Given the description of an element on the screen output the (x, y) to click on. 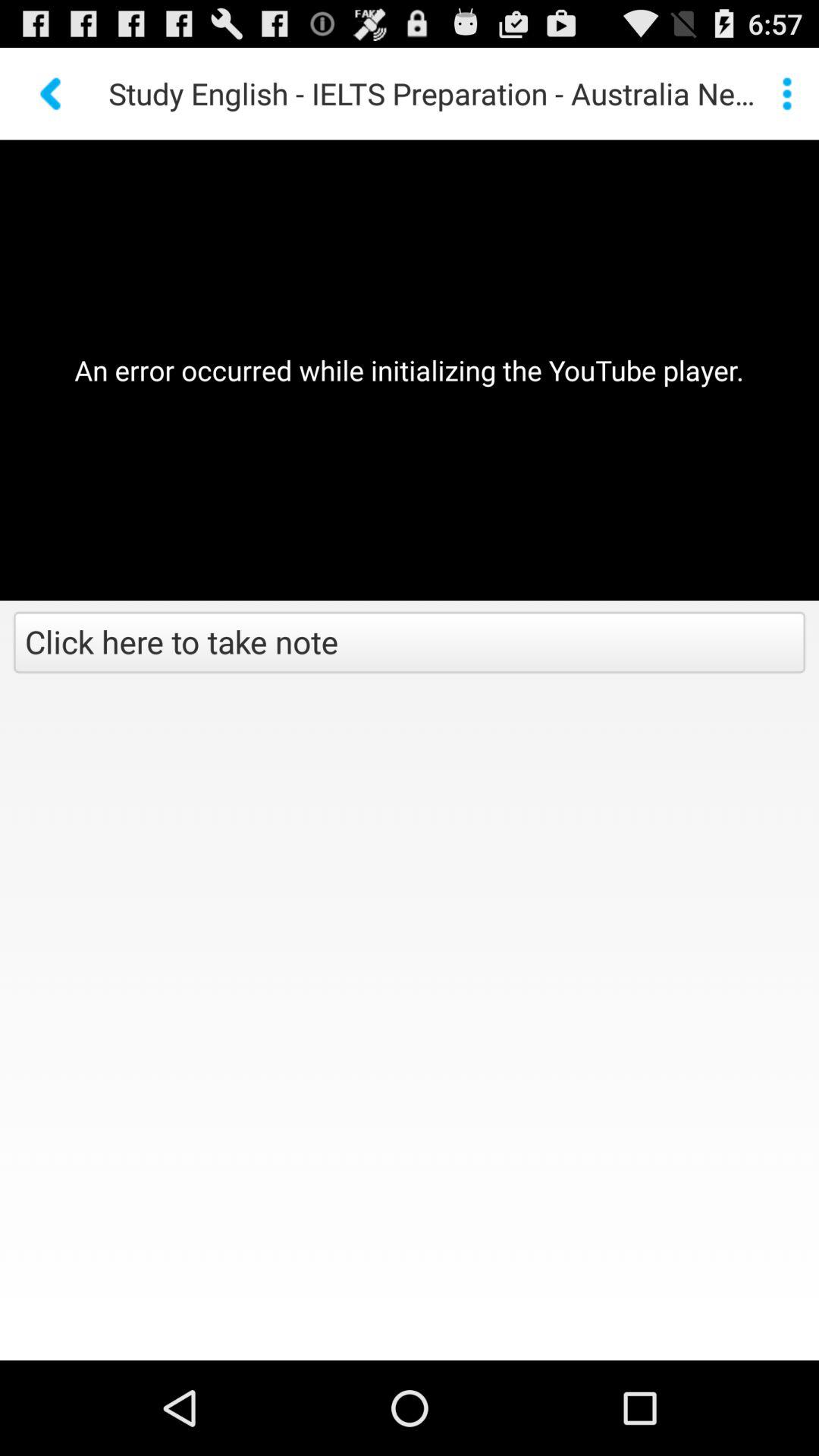
tap the item to the right of study english ielts (787, 93)
